Given the description of an element on the screen output the (x, y) to click on. 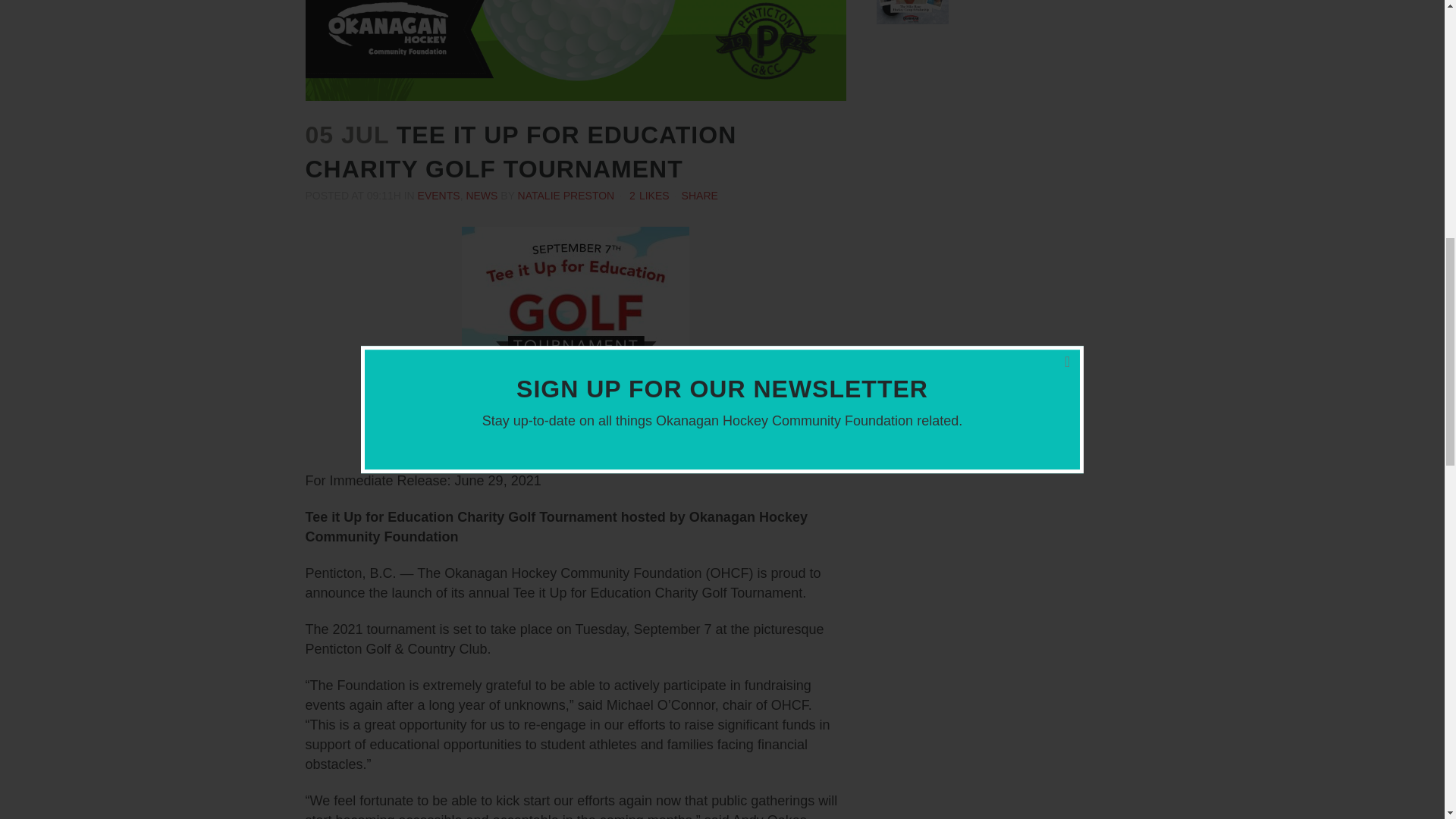
Like this (648, 195)
SHARE (699, 195)
NEWS (481, 195)
2 LIKES (648, 195)
NATALIE PRESTON (566, 195)
EVENTS (438, 195)
